Given the description of an element on the screen output the (x, y) to click on. 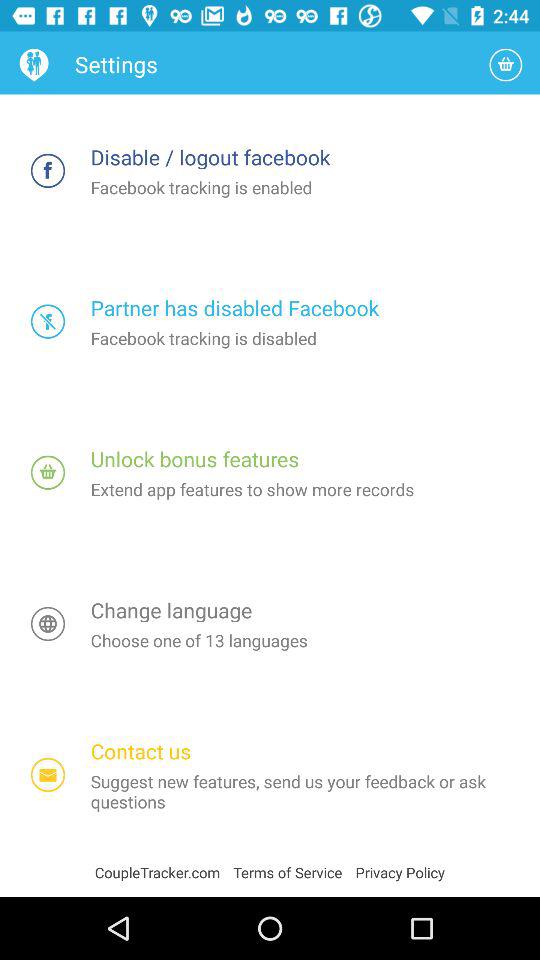
press the item to the right of coupletracker.com (294, 872)
